Given the description of an element on the screen output the (x, y) to click on. 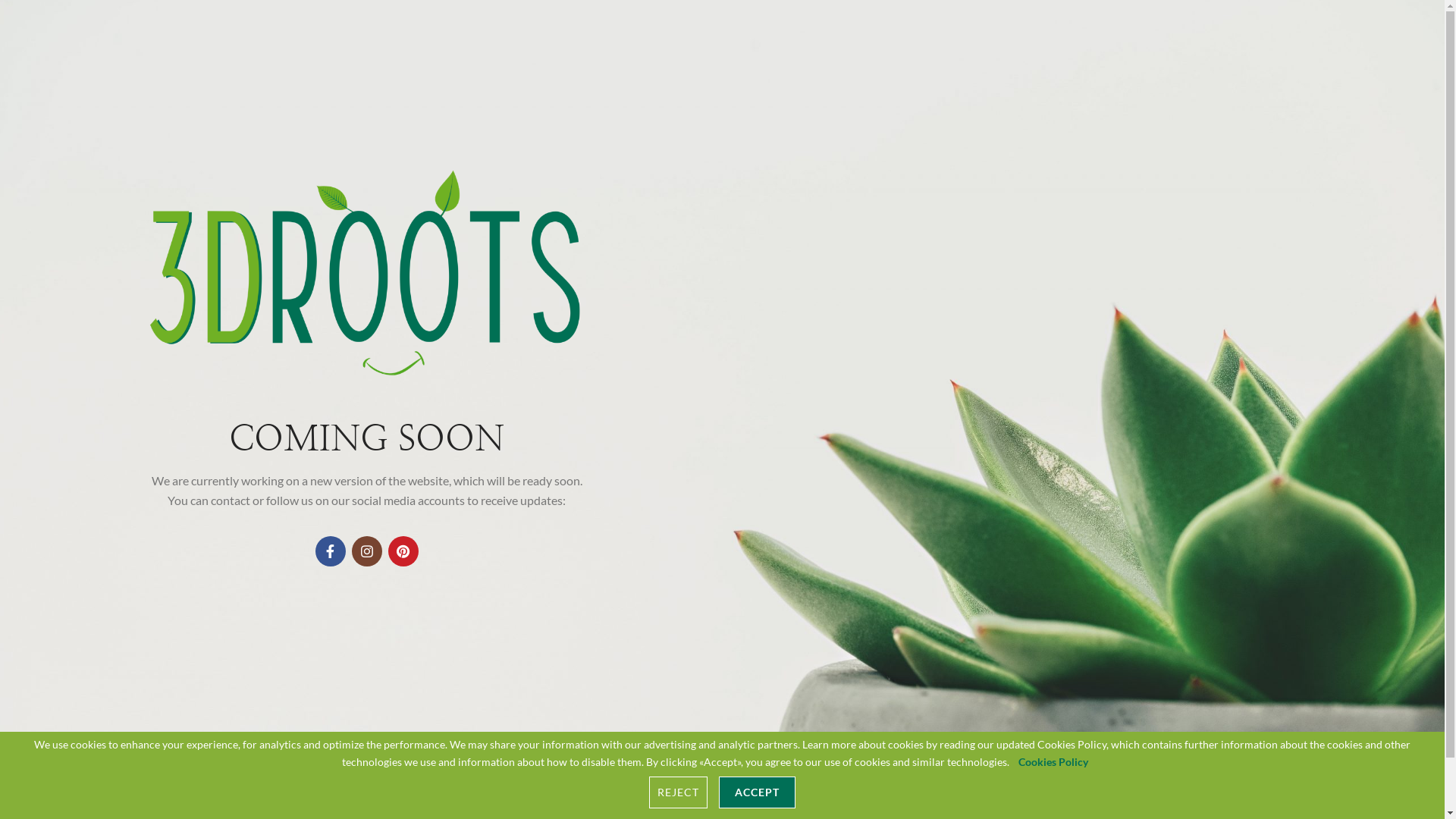
ACCEPT Element type: text (756, 792)
Cookies Policy Element type: text (1059, 761)
REJECT Element type: text (678, 792)
